Given the description of an element on the screen output the (x, y) to click on. 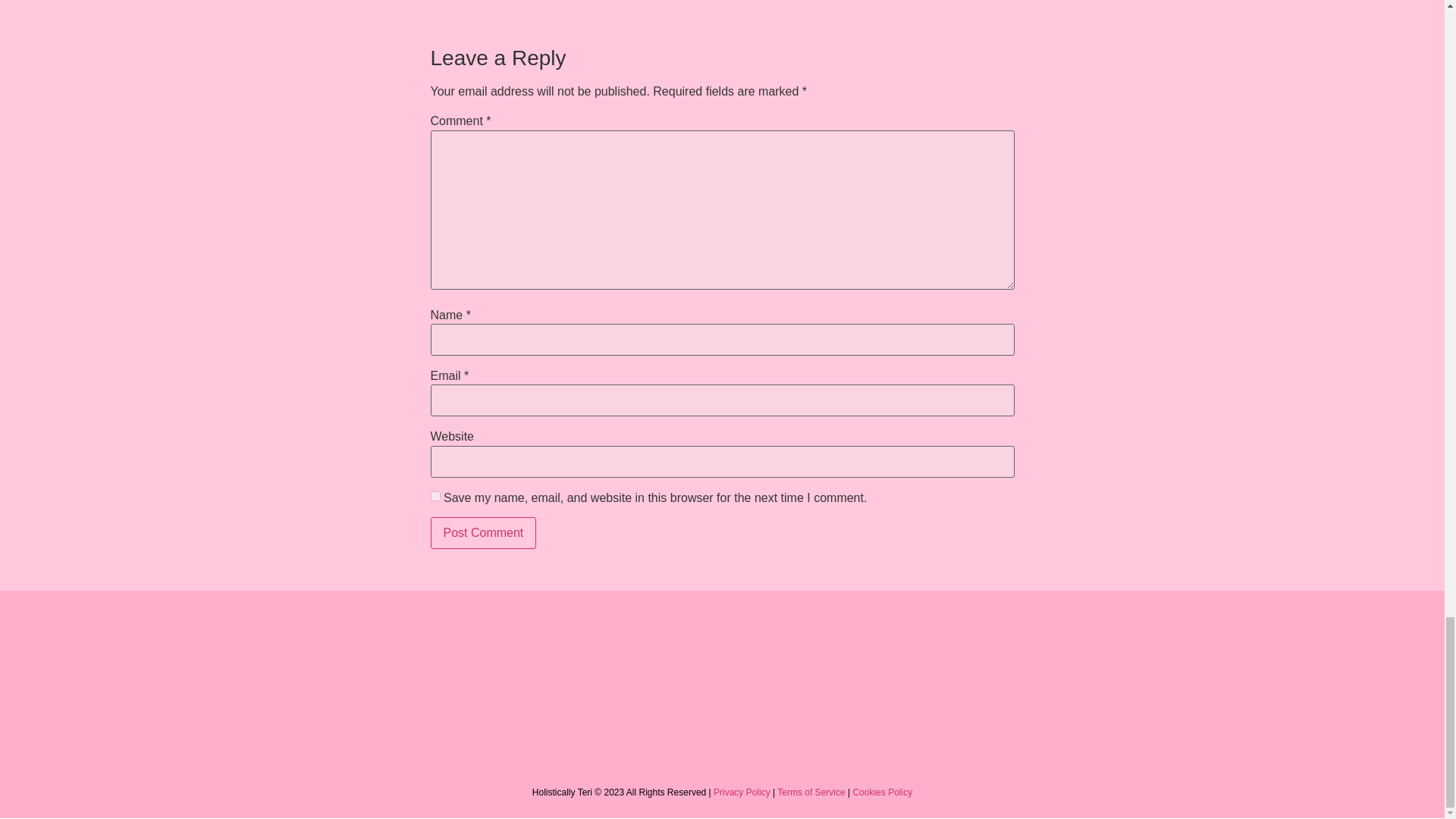
Post Comment (483, 532)
yes (435, 496)
